Given the description of an element on the screen output the (x, y) to click on. 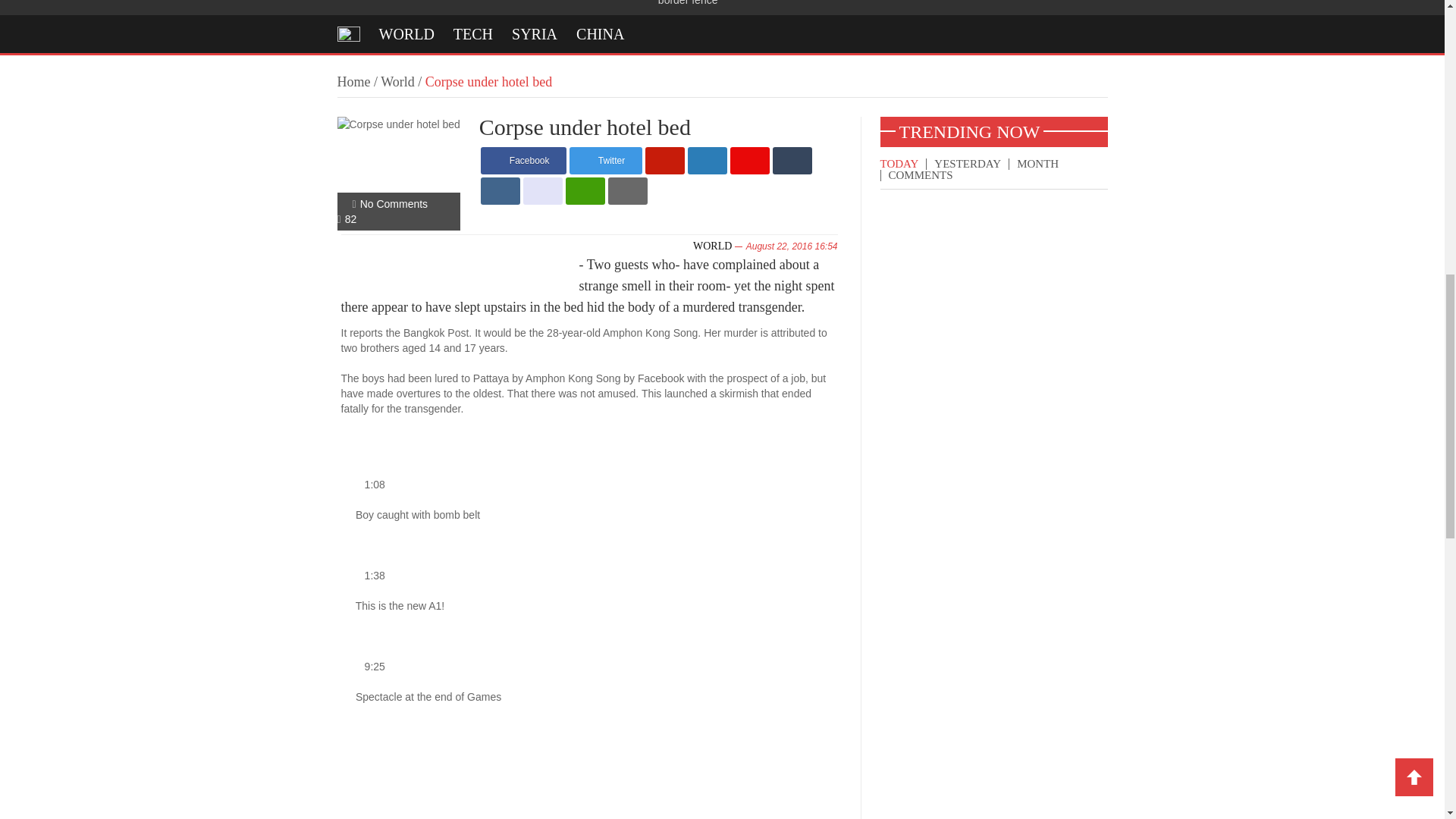
WORLD (712, 245)
Home (352, 81)
TECH (472, 33)
WORLD (405, 33)
No Comments (393, 203)
SYRIA (534, 33)
World (397, 81)
Comment on Corpse under hotel bed (393, 203)
CHINA (600, 33)
